Given the description of an element on the screen output the (x, y) to click on. 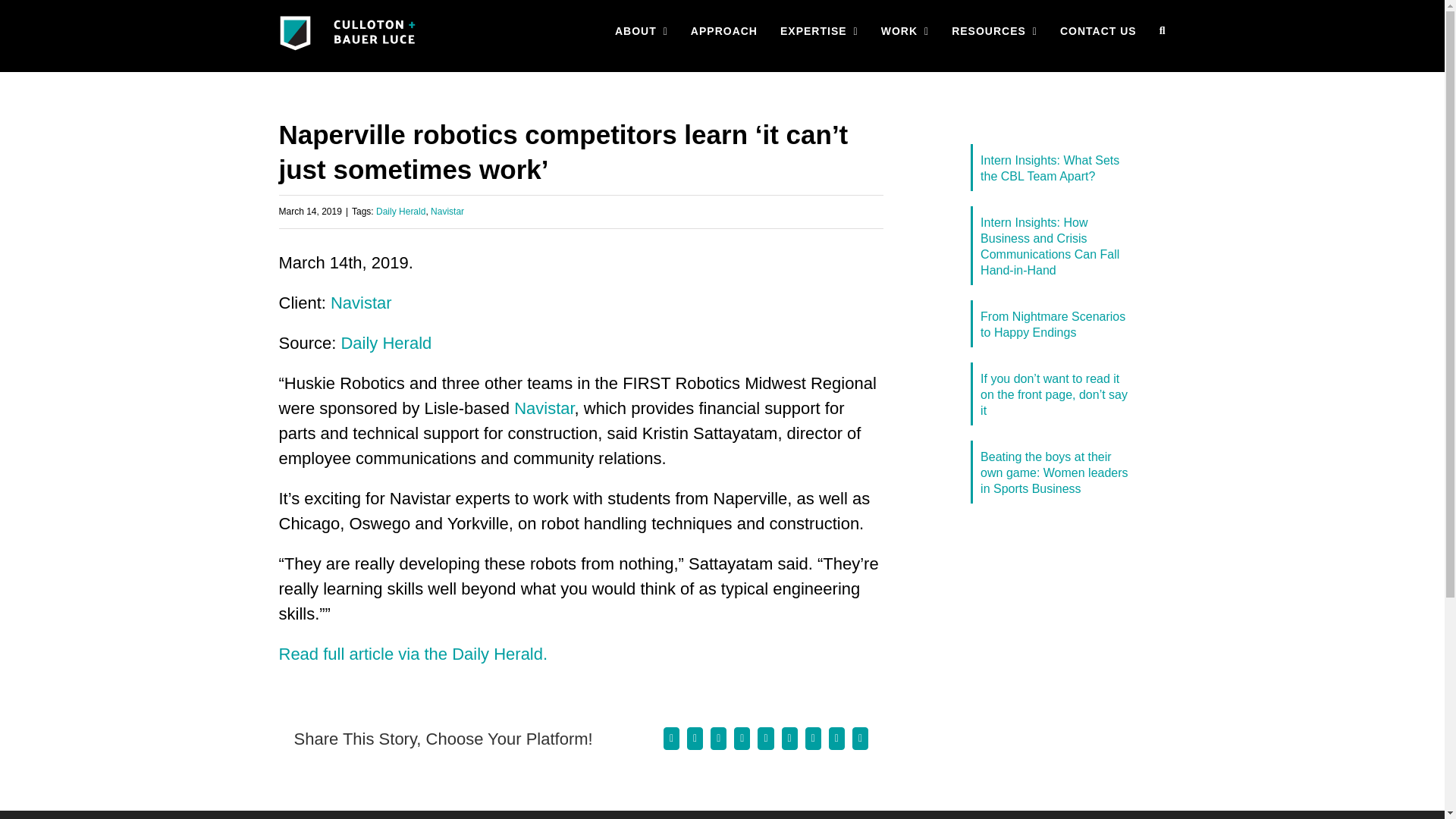
EXPERTISE (819, 30)
CONTACT US (1098, 30)
RESOURCES (994, 30)
APPROACH (723, 30)
